Given the description of an element on the screen output the (x, y) to click on. 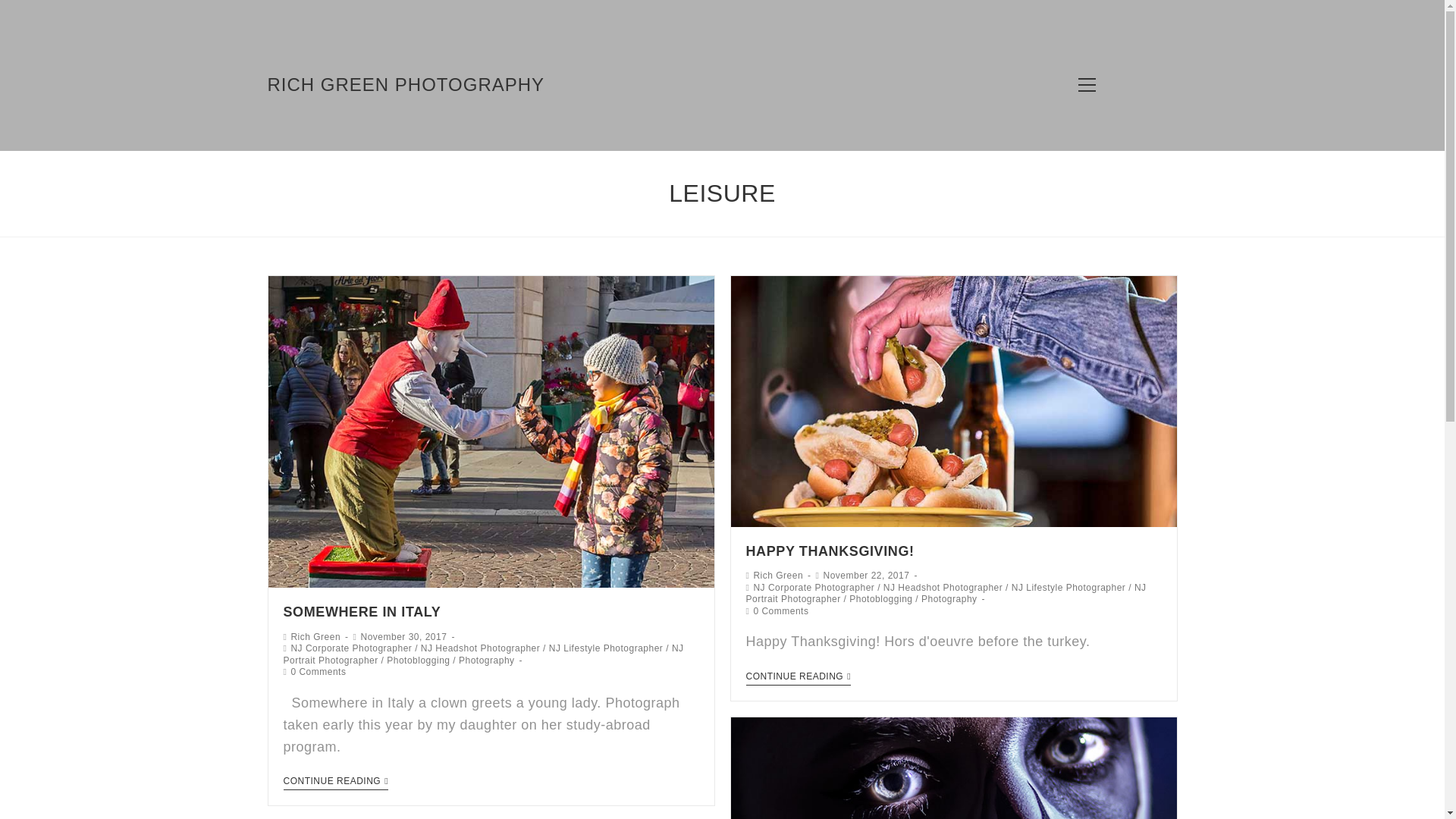
SOMEWHERE IN ITALY (362, 611)
Photoblogging (418, 660)
NJ Lifestyle Photographer (1068, 587)
0 Comments (780, 611)
Posts by Rich Green (314, 636)
Photoblogging (880, 598)
Happy Thanksgiving! (829, 550)
NJ Lifestyle Photographer (605, 647)
NJ Portrait Photographer (483, 653)
Continue Reading (798, 677)
